Given the description of an element on the screen output the (x, y) to click on. 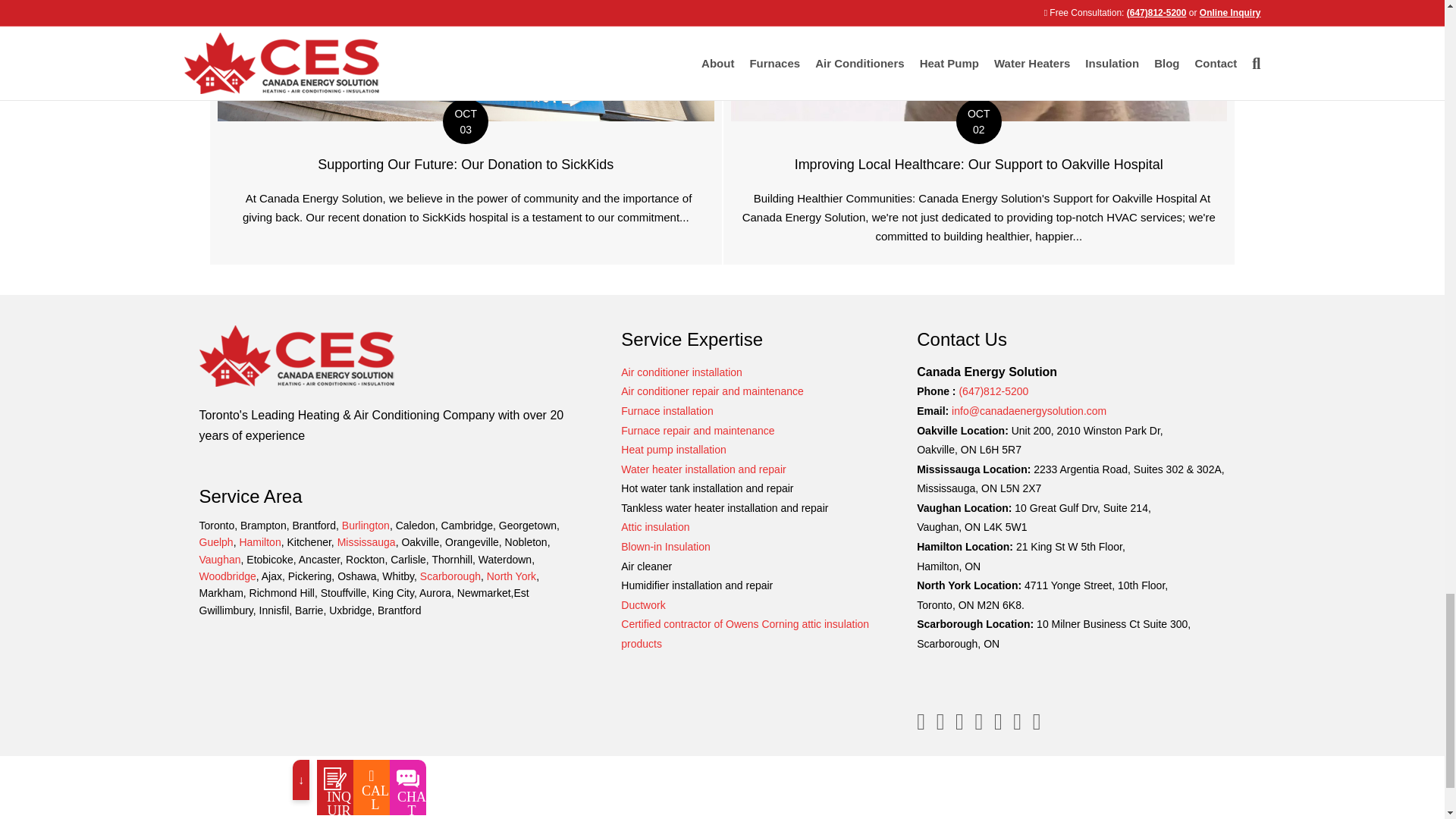
Oakvill Hospital.2 (978, 60)
donation-to-sickkids2 (465, 60)
